Given the description of an element on the screen output the (x, y) to click on. 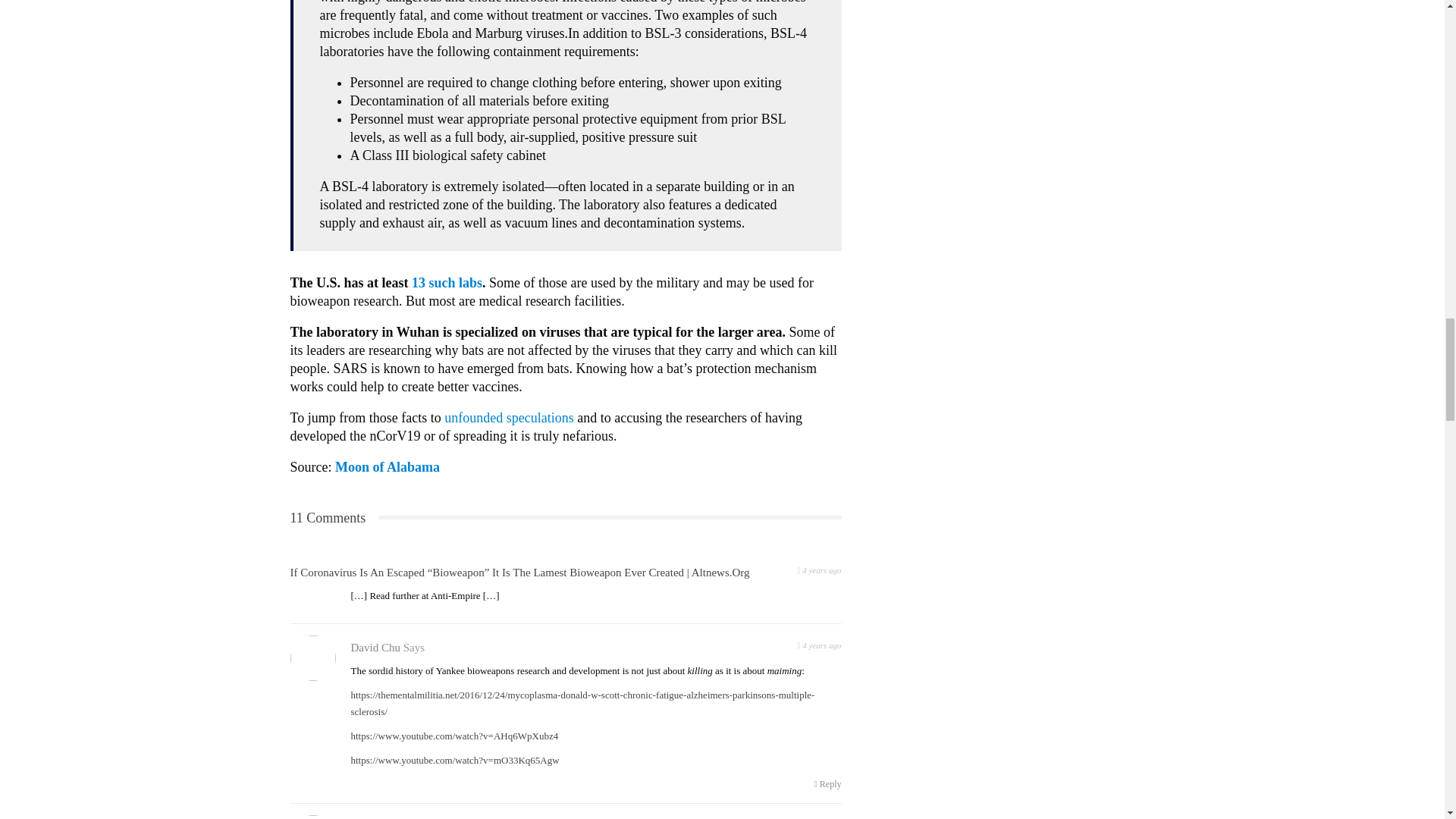
unfounded speculations (508, 417)
Moon of Alabama (386, 467)
Reply (827, 783)
Sunday, February 2, 2020, 5:06 pm (818, 569)
Thursday, December 31, 2020, 10:58 am (818, 643)
13 such labs (446, 282)
Thursday, December 31, 2020, 10:58 am (818, 816)
